Given the description of an element on the screen output the (x, y) to click on. 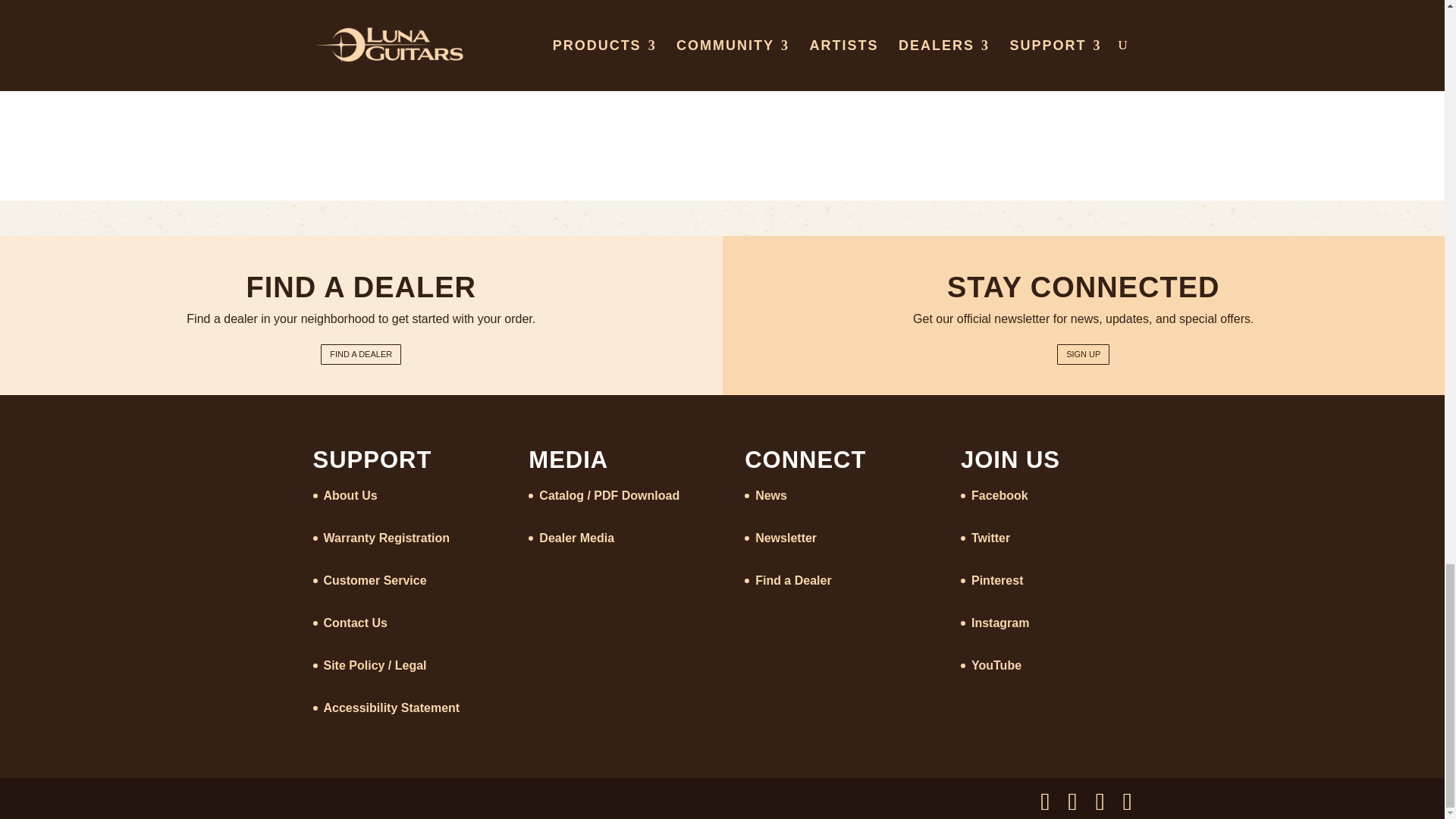
Luna Ukulele "Hau" Snow White Tenor (722, 63)
SIGN UP (1083, 353)
FIND A DEALER (360, 353)
